Given the description of an element on the screen output the (x, y) to click on. 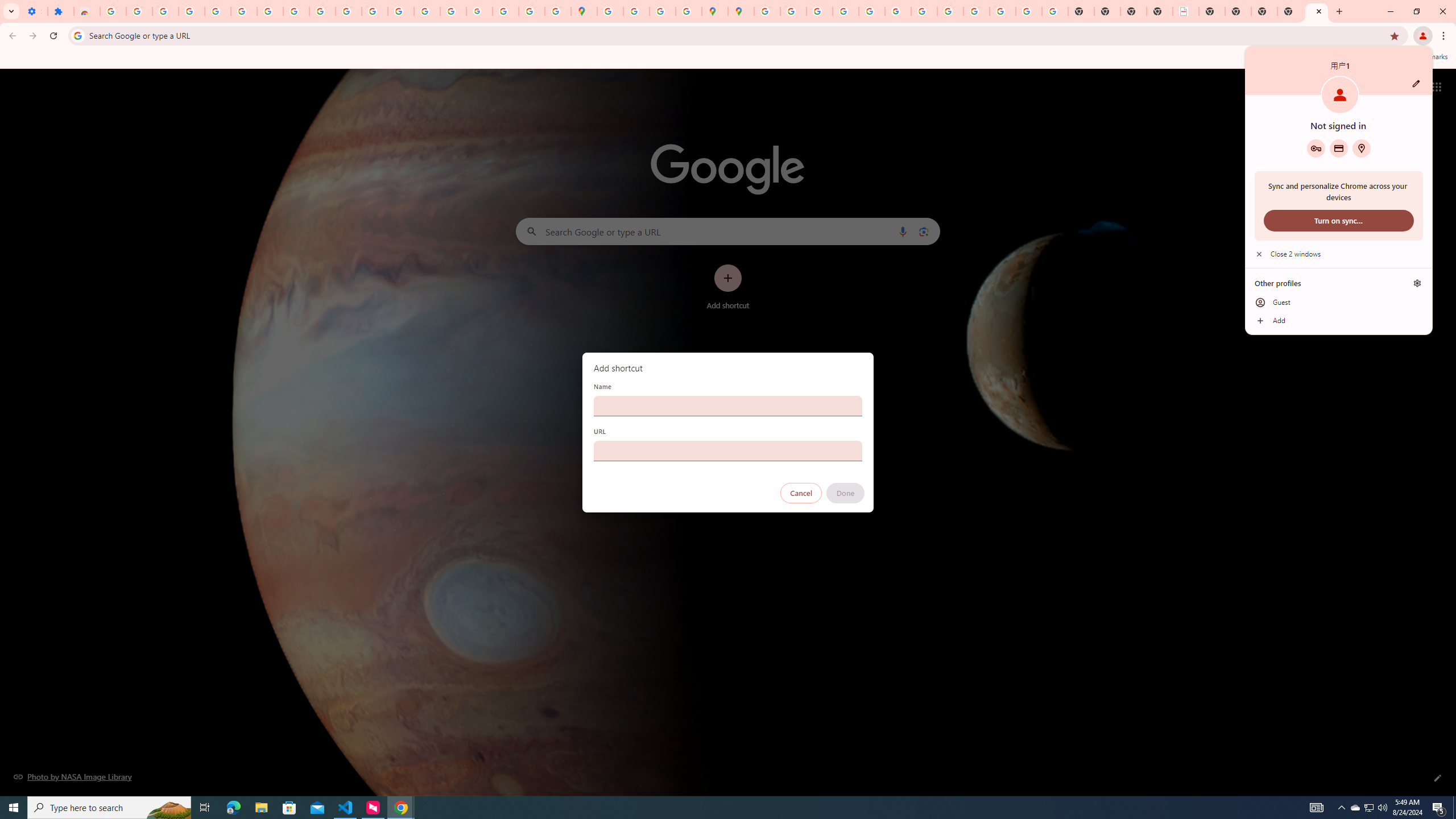
Reviews: Helix Fruit Jump Arcade Game (86, 11)
Learn how to find your photos - Google Photos Help (191, 11)
Customize profile (1415, 83)
Cancel (801, 493)
Notification Chevron (1341, 807)
Sign in - Google Accounts (766, 11)
Manage profiles (1417, 283)
Guest (1338, 302)
